Given the description of an element on the screen output the (x, y) to click on. 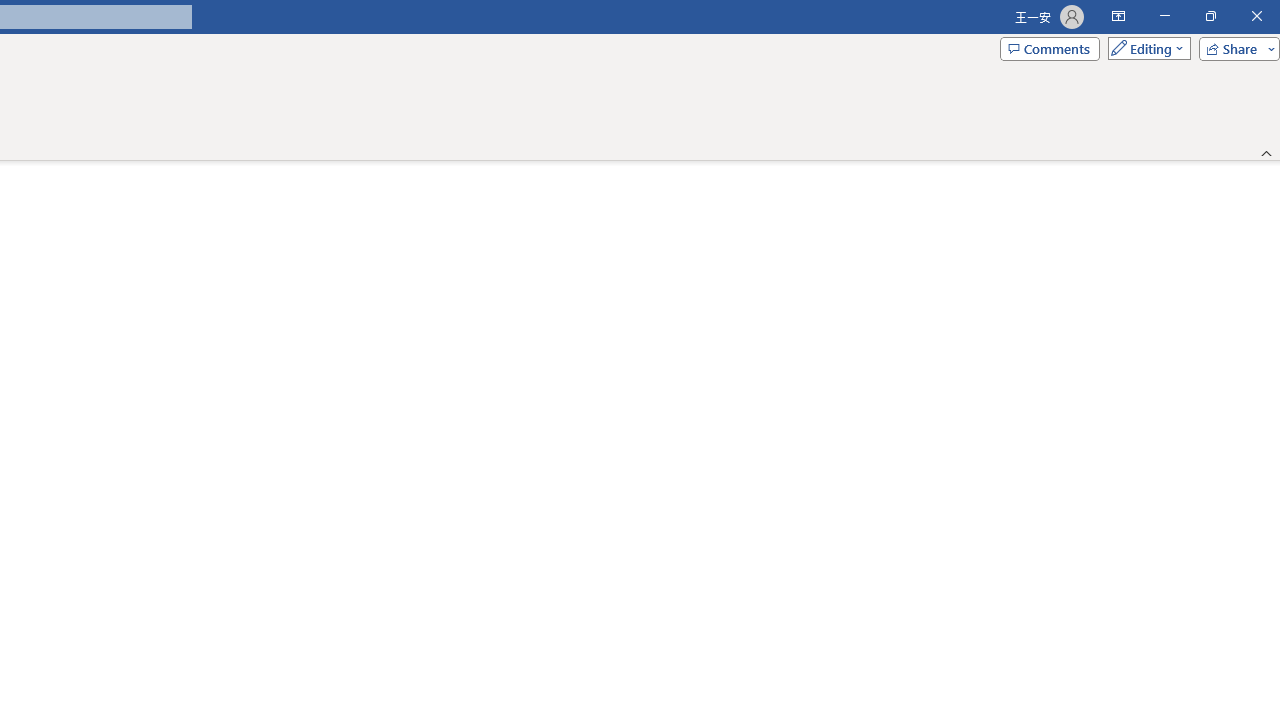
Editing (1144, 47)
